Given the description of an element on the screen output the (x, y) to click on. 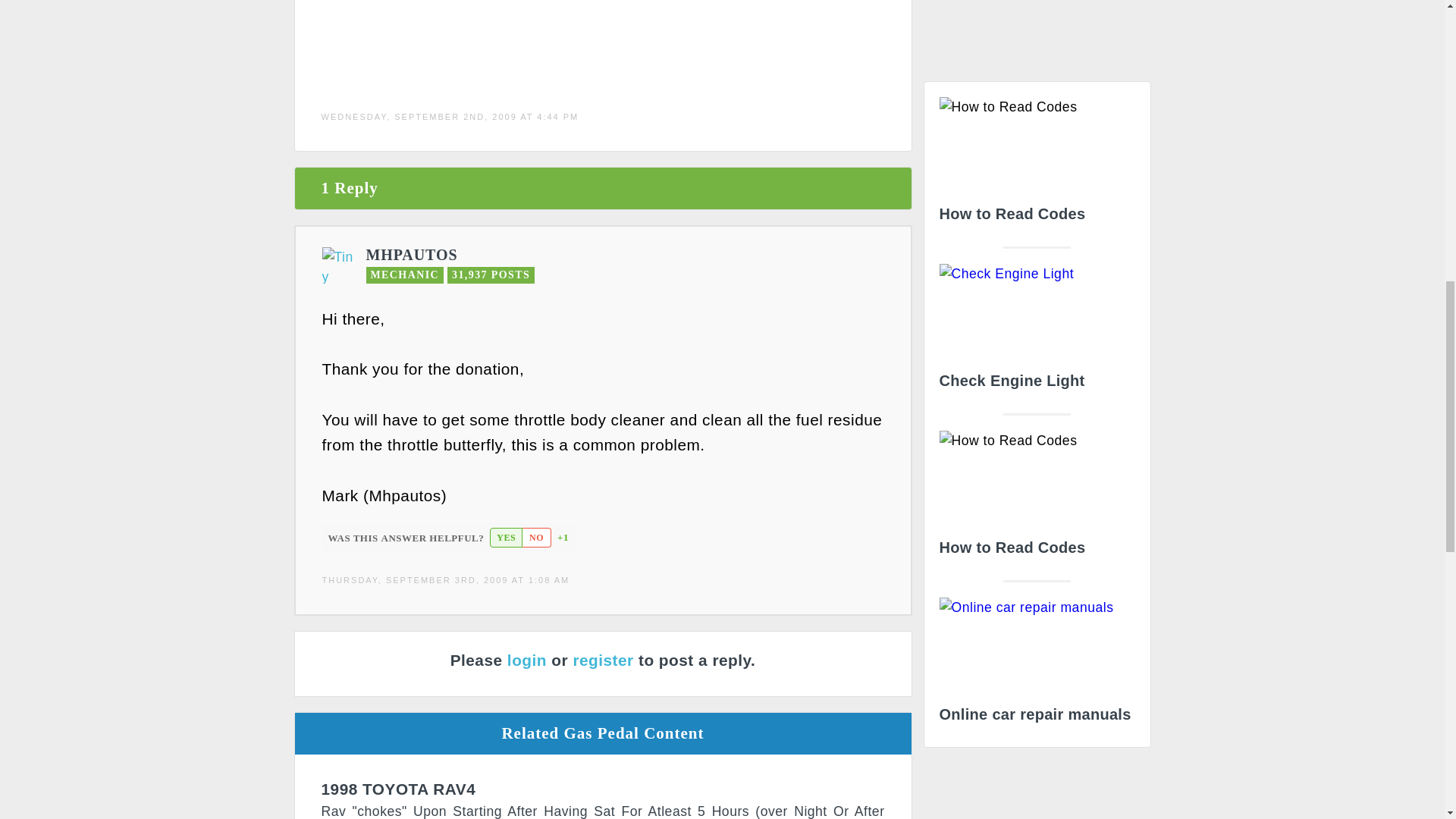
login (526, 660)
Check Engine Light (1036, 330)
Car Manual (1036, 664)
register (602, 660)
Check Engine Light (1036, 330)
